Given the description of an element on the screen output the (x, y) to click on. 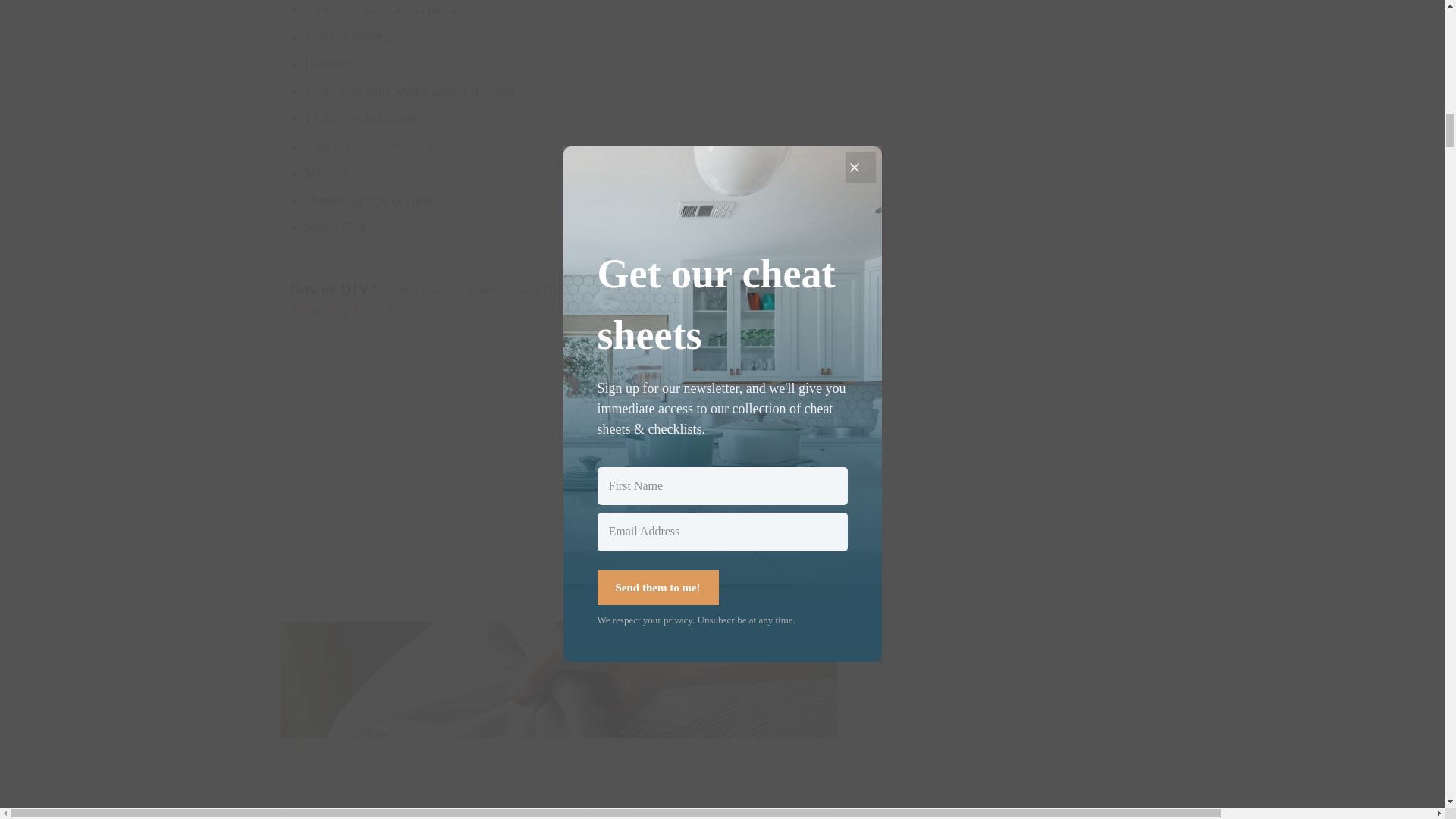
This cushion cover from IKEA is made for the Sinnerlig Bench (484, 299)
Glue gun with extra glue (372, 145)
